Given the description of an element on the screen output the (x, y) to click on. 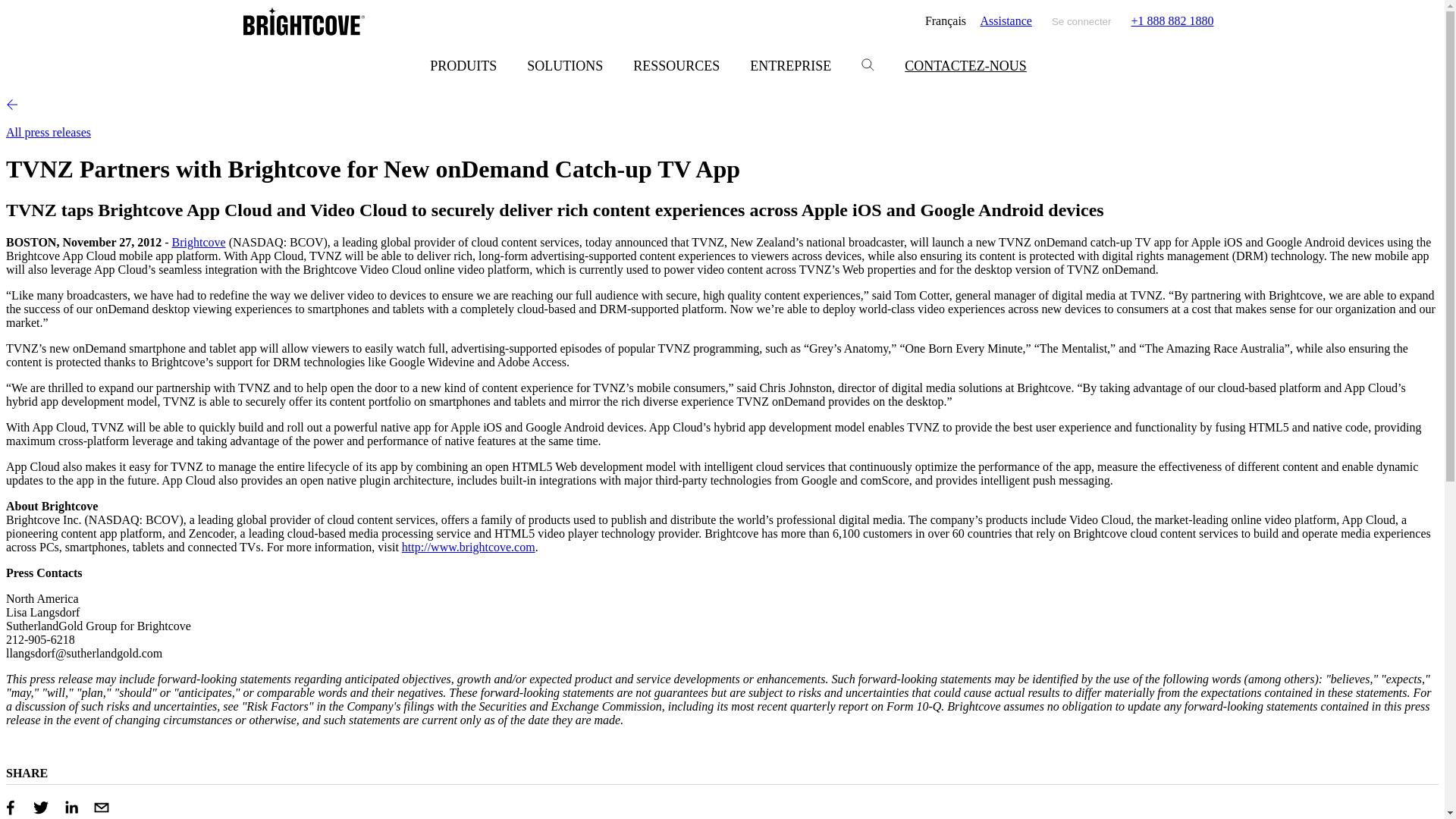
Se connecter (1081, 21)
SEARCH ICONA MAGNIFYING GLASS ICON. (868, 64)
Brightcove (198, 241)
Assistance (1005, 20)
CONTACTEZ-NOUS (965, 66)
